Given the description of an element on the screen output the (x, y) to click on. 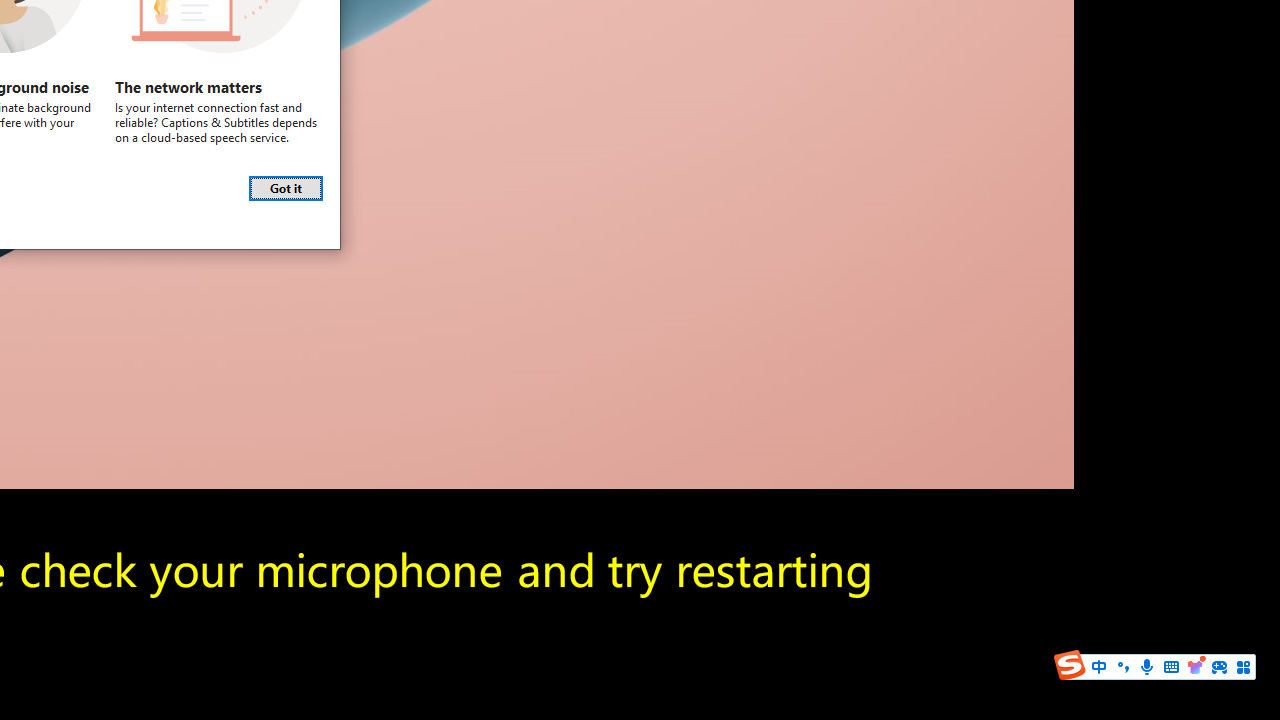
Got it (285, 188)
